Given the description of an element on the screen output the (x, y) to click on. 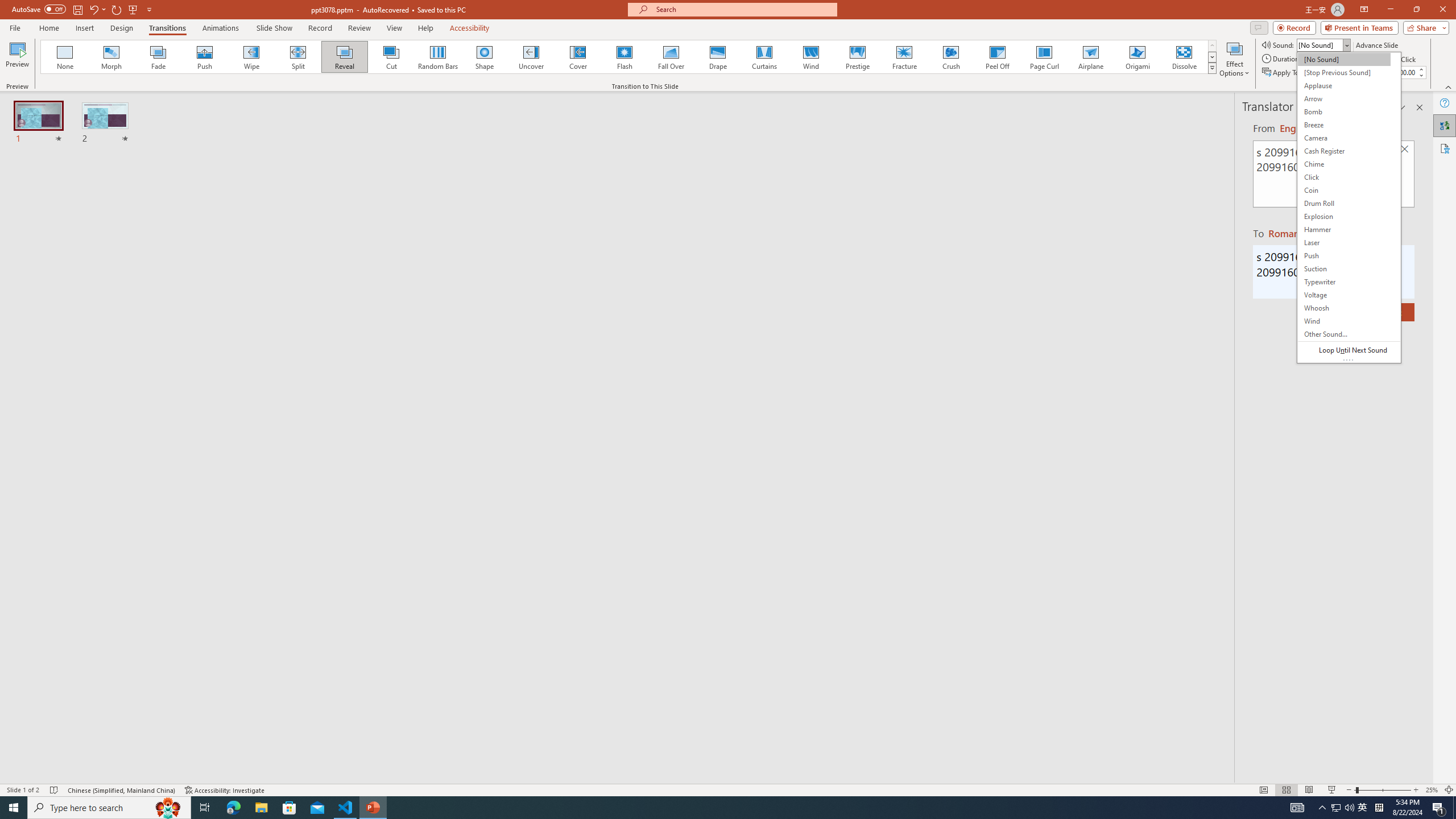
None (65, 56)
Random Bars (437, 56)
